Given the description of an element on the screen output the (x, y) to click on. 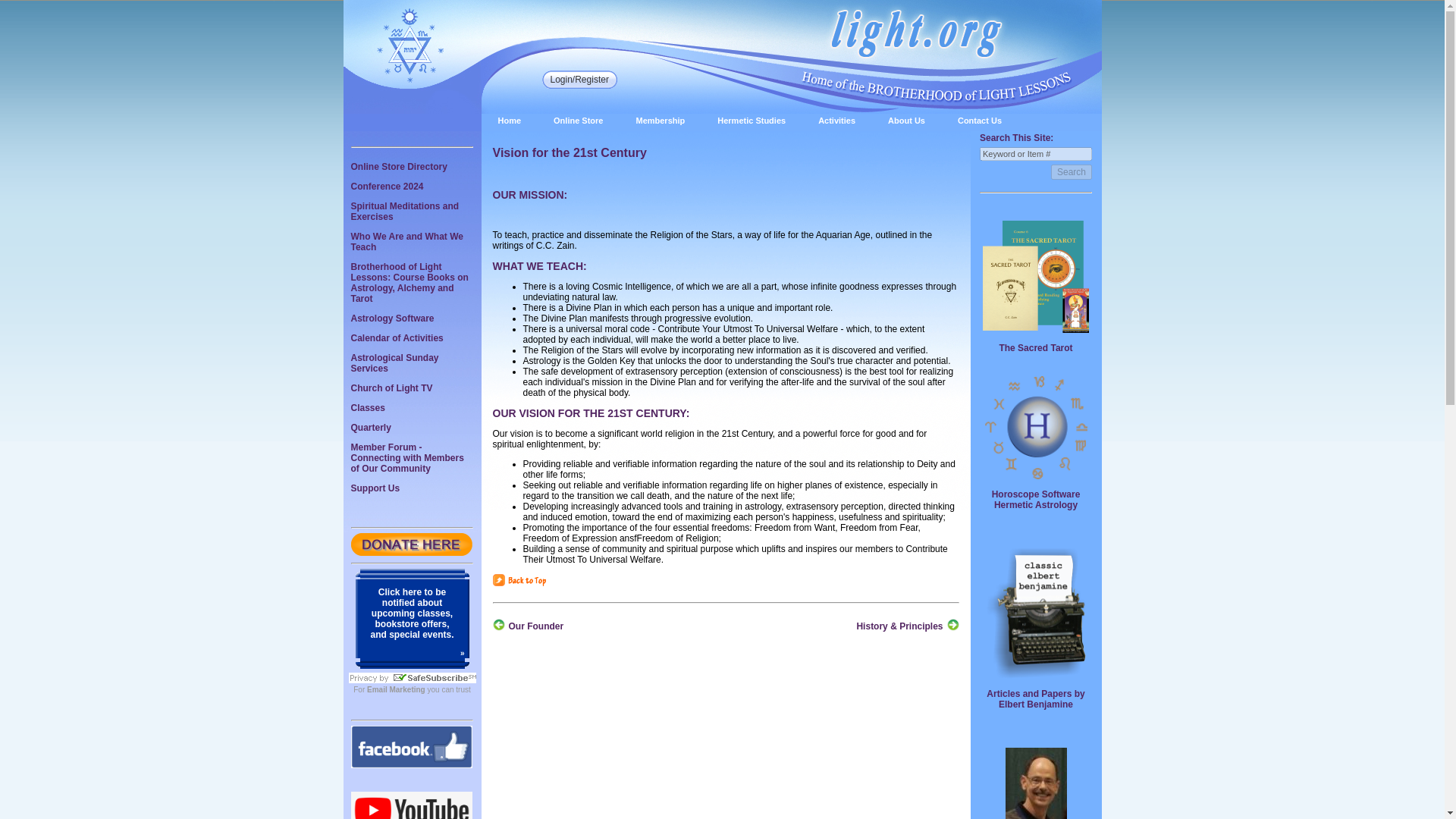
Search (1071, 171)
Hermetic Studies (751, 120)
Home (508, 120)
Donate now to support the Church of Light (410, 552)
Online Store (578, 120)
Membership (659, 120)
